Given the description of an element on the screen output the (x, y) to click on. 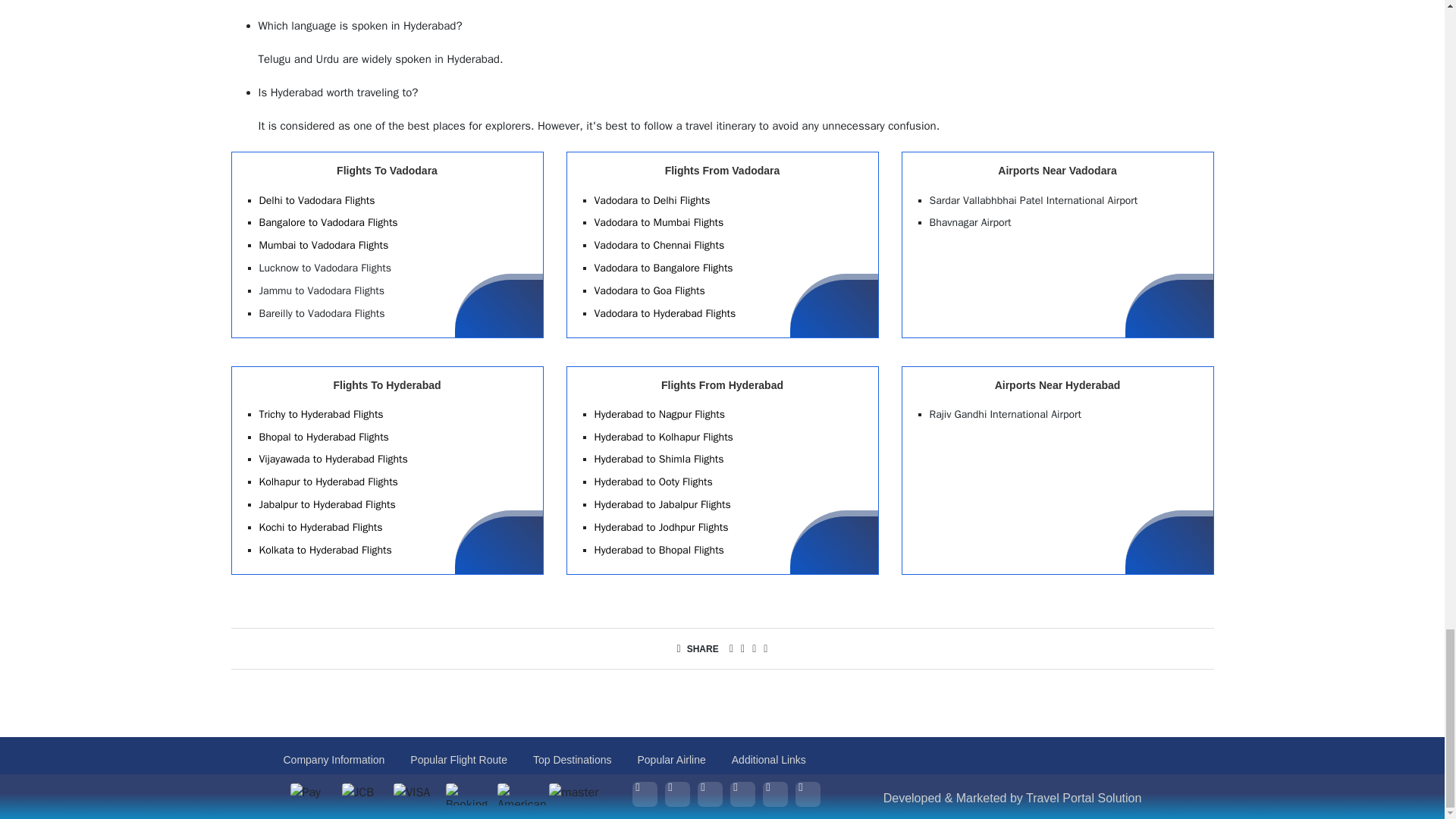
Vadodara to Hyderabad Flights (665, 313)
Vadodara to Bangalore Flights (663, 267)
Vadodara to Chennai Flights (659, 245)
Bhopal to Hyderabad Flights (323, 436)
Vadodara to Mumbai Flights (658, 222)
Bangalore to Vadodara Flights (328, 222)
Vadodara to Delhi Flights (652, 200)
Vijayawada to Hyderabad Flights (333, 459)
Vadodara to Goa Flights (649, 290)
Delhi to Vadodara Flights (317, 200)
Trichy to Hyderabad Flights (321, 413)
Mumbai to Vadodara Flights (323, 245)
